Given the description of an element on the screen output the (x, y) to click on. 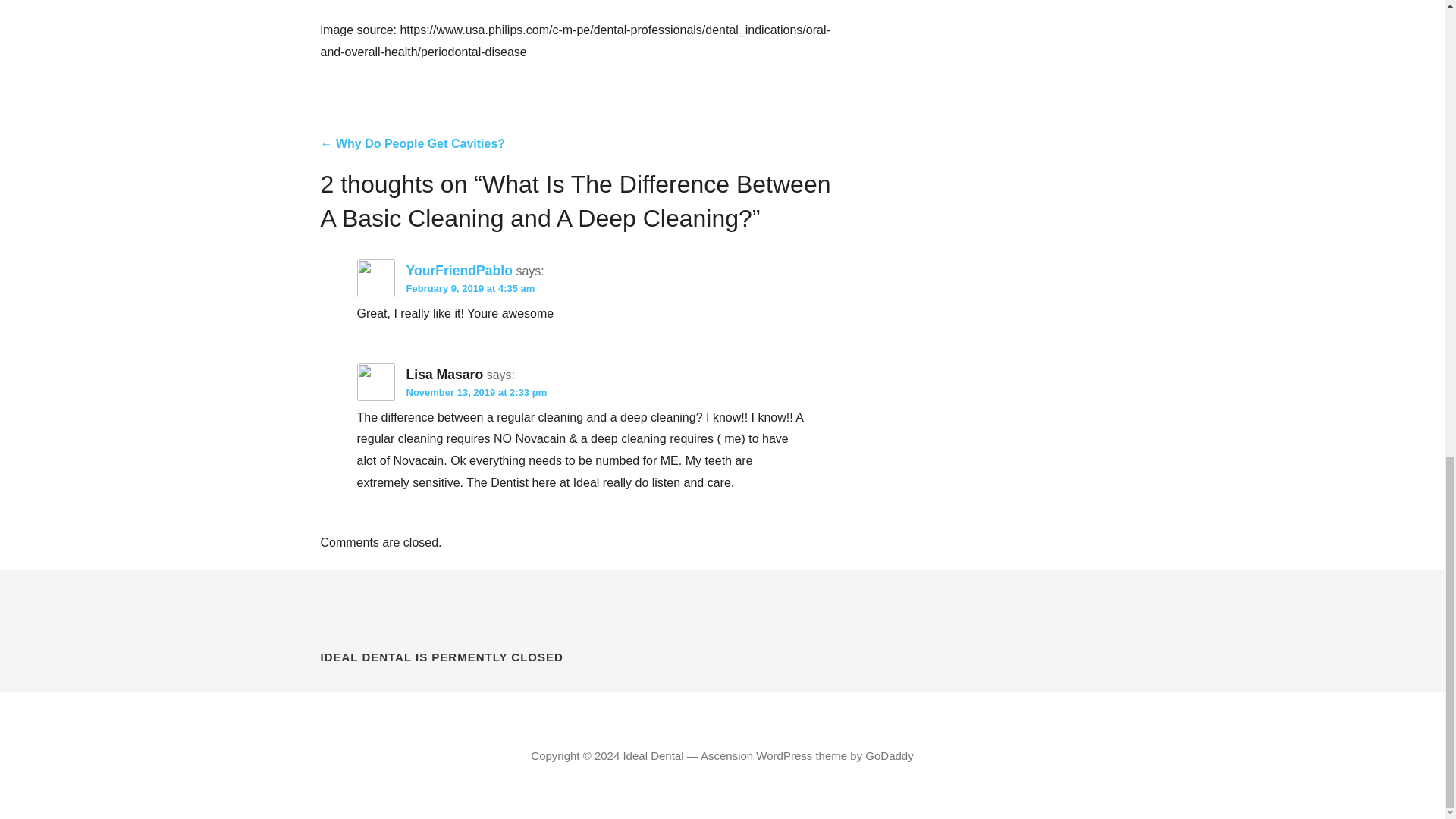
YourFriendPablo (459, 270)
February 9, 2019 at 4:35 am (470, 288)
GoDaddy (888, 755)
November 13, 2019 at 2:33 pm (476, 392)
